Given the description of an element on the screen output the (x, y) to click on. 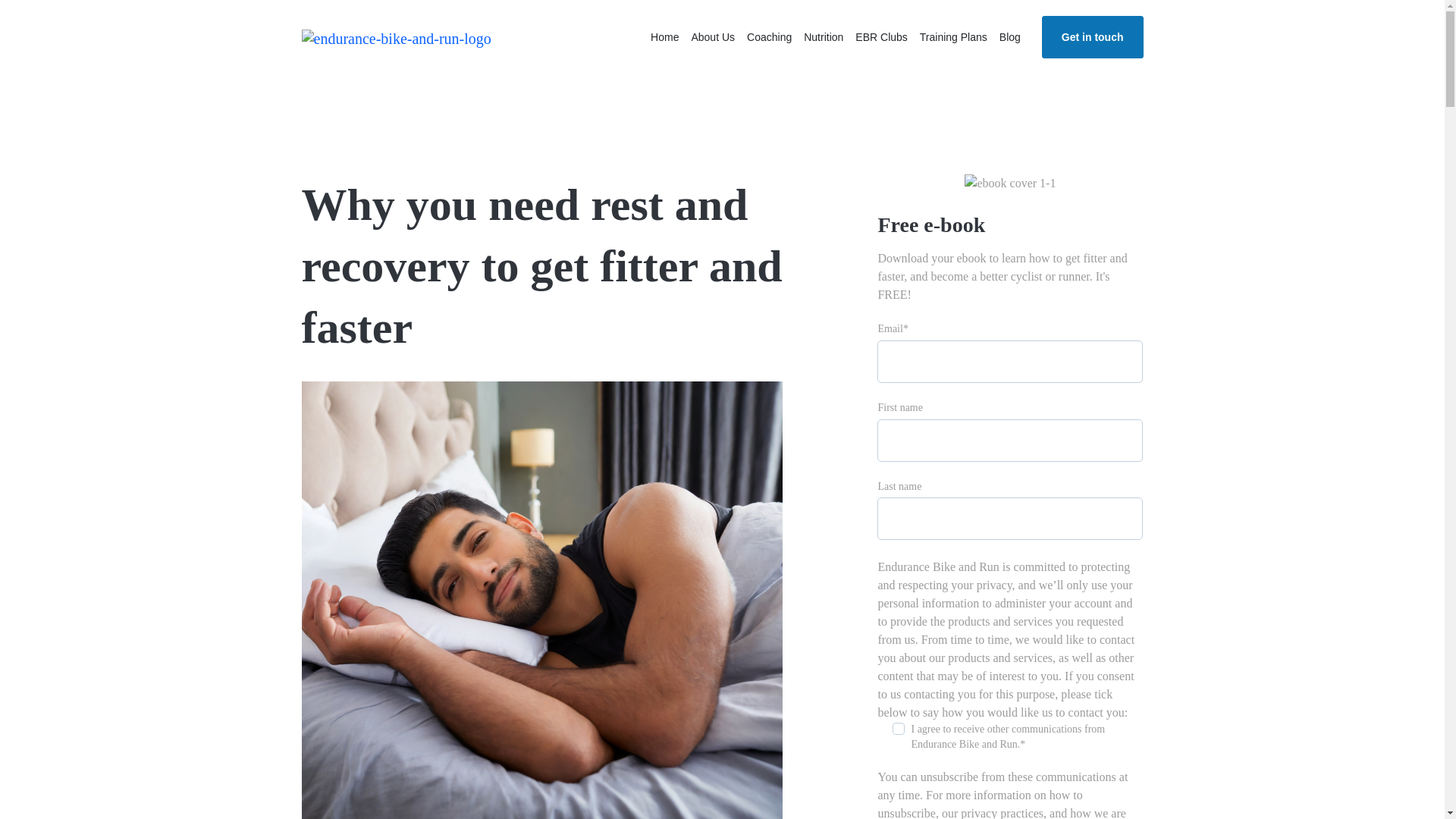
Get in touch (1092, 36)
About Us (712, 36)
Coaching (769, 36)
EBR Clubs (880, 36)
Training Plans (953, 36)
